Given the description of an element on the screen output the (x, y) to click on. 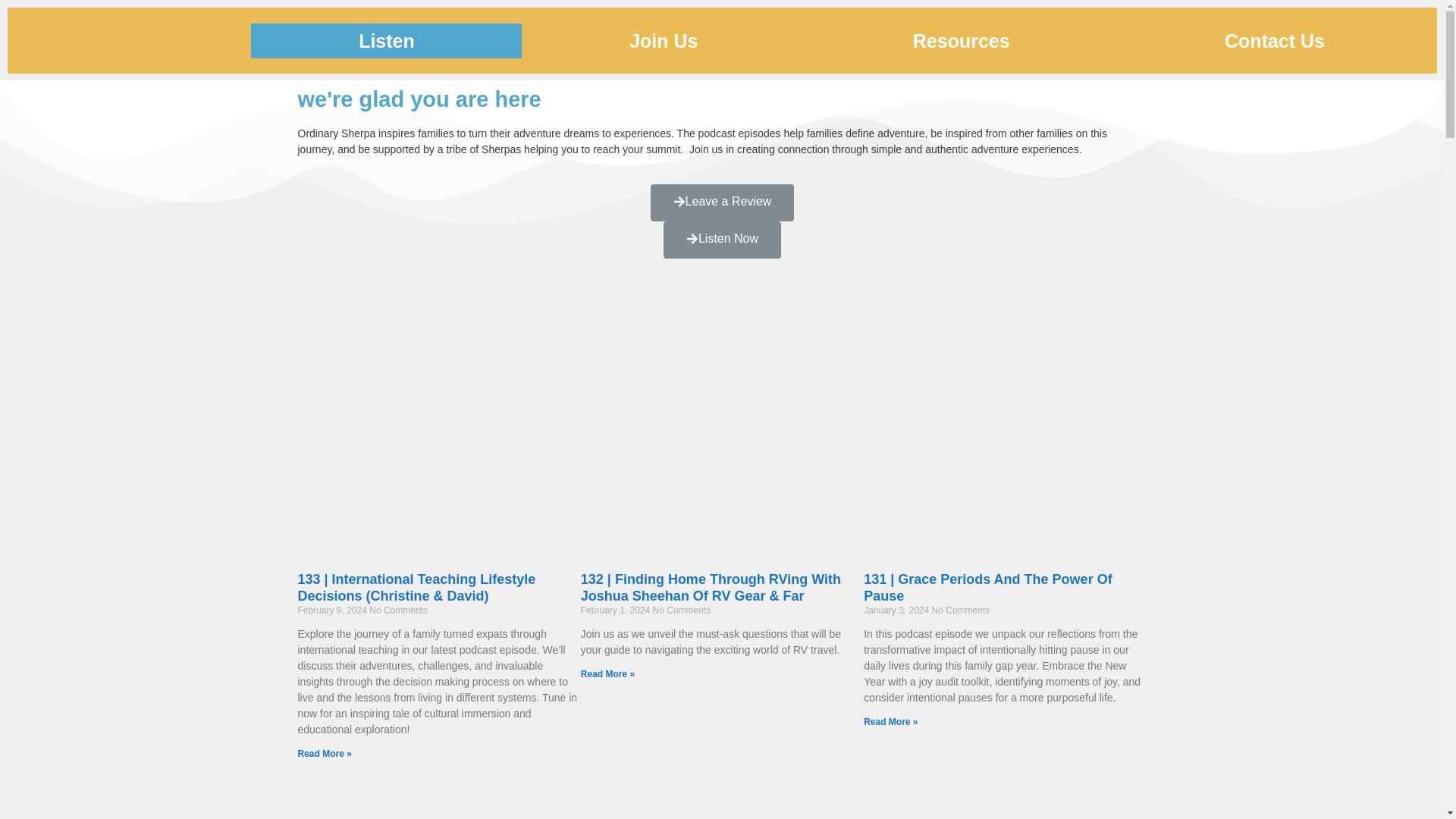
Contact Us (1273, 39)
Listen Now (721, 239)
Resources (960, 39)
Listen (385, 39)
Join Us (663, 39)
Leave a Review (722, 202)
